Given the description of an element on the screen output the (x, y) to click on. 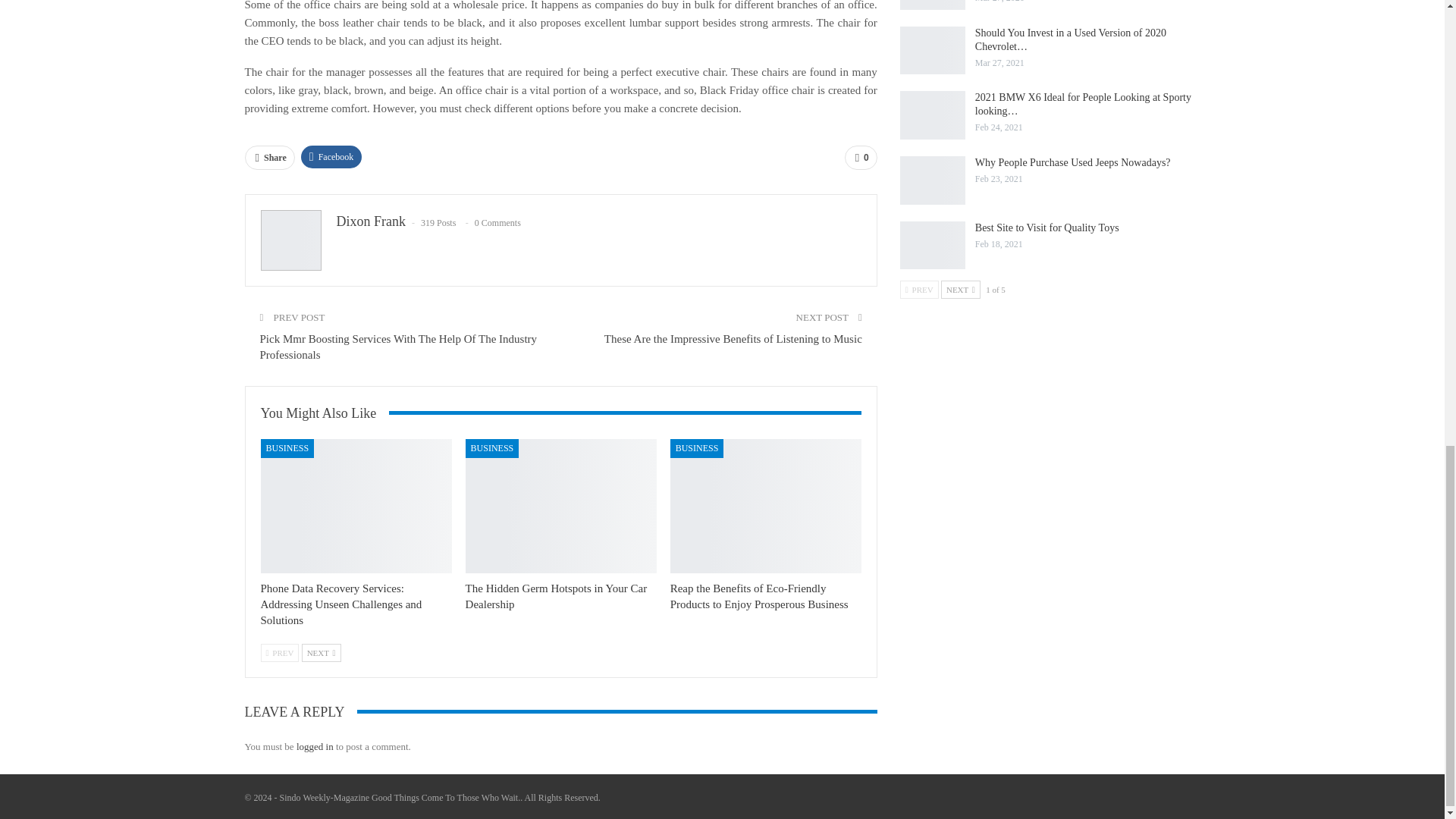
BUSINESS (287, 447)
You Might Also Like (325, 413)
Facebook (331, 156)
BUSINESS (492, 447)
Dixon Frank (371, 221)
The Hidden Germ Hotspots in Your Car Dealership (556, 596)
These Are the Impressive Benefits of Listening to Music (732, 338)
0 (860, 157)
The Hidden Germ Hotspots in Your Car Dealership (560, 505)
